Given the description of an element on the screen output the (x, y) to click on. 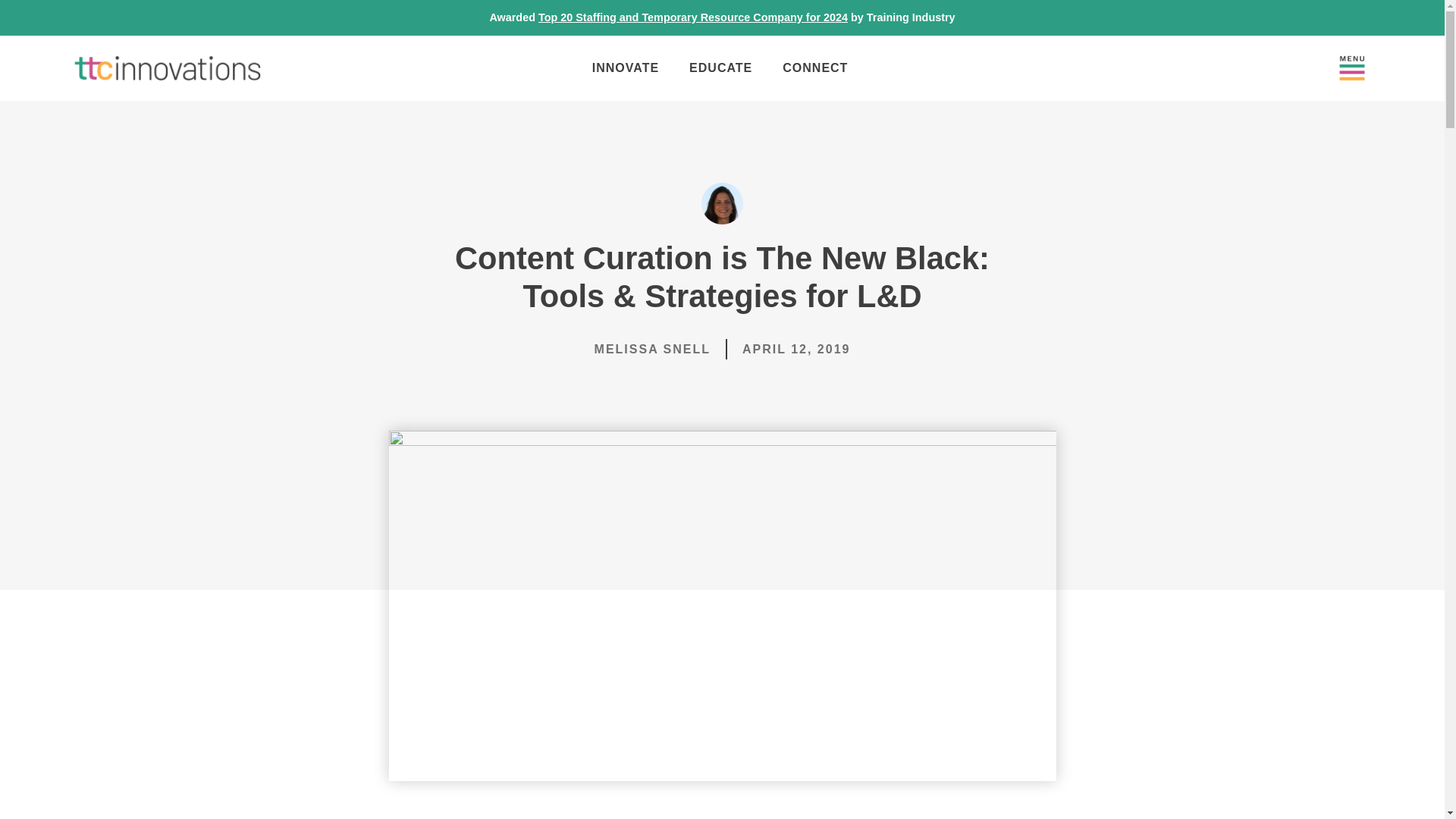
INNOVATE (625, 67)
MELISSA SNELL (652, 349)
EDUCATE (720, 67)
CONNECT (815, 67)
